Given the description of an element on the screen output the (x, y) to click on. 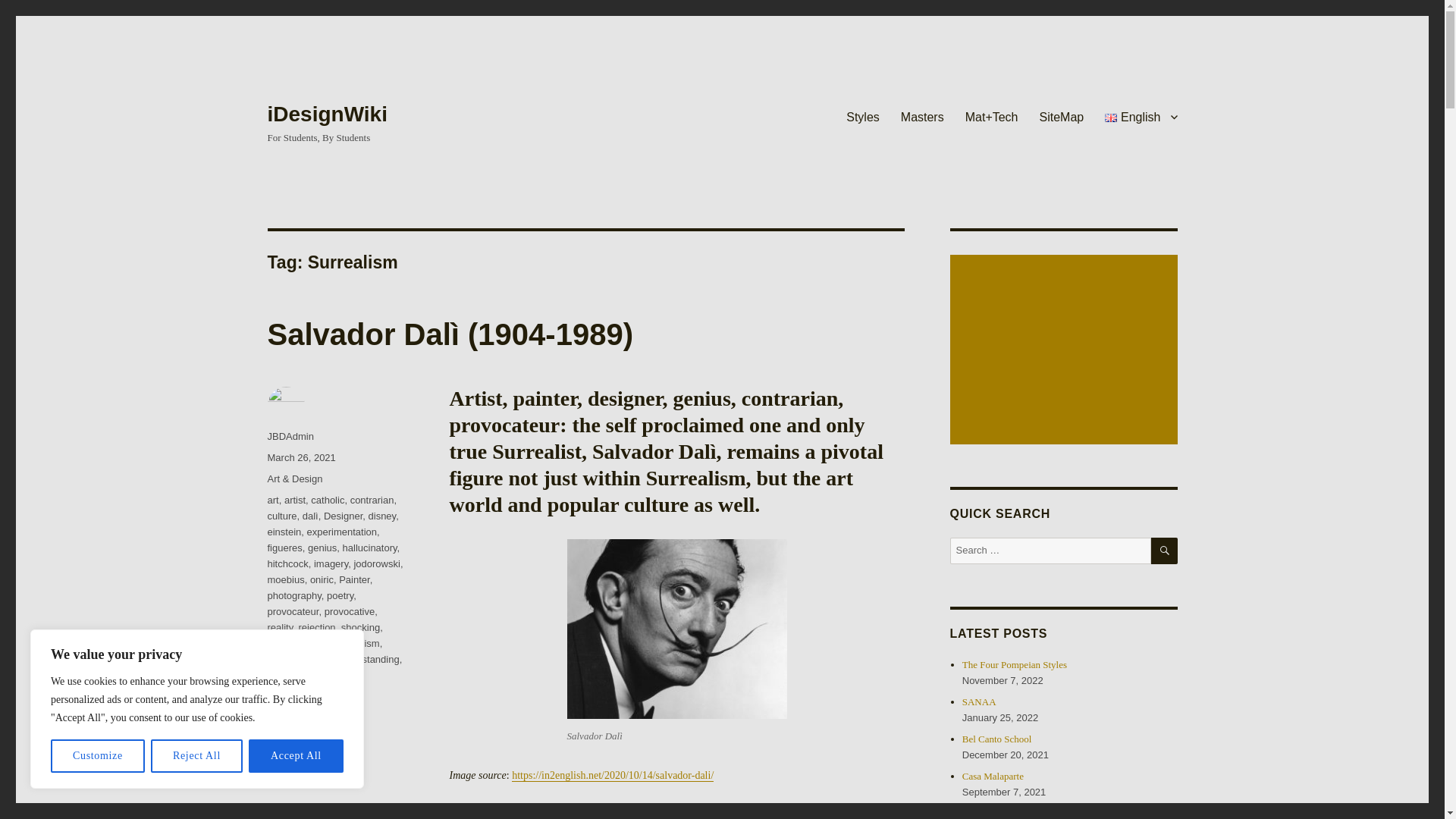
Masters (922, 116)
Customize (97, 756)
English (1141, 116)
Accept All (295, 756)
Styles (862, 116)
iDesignWiki (326, 114)
SiteMap (1061, 116)
Reject All (197, 756)
